Given the description of an element on the screen output the (x, y) to click on. 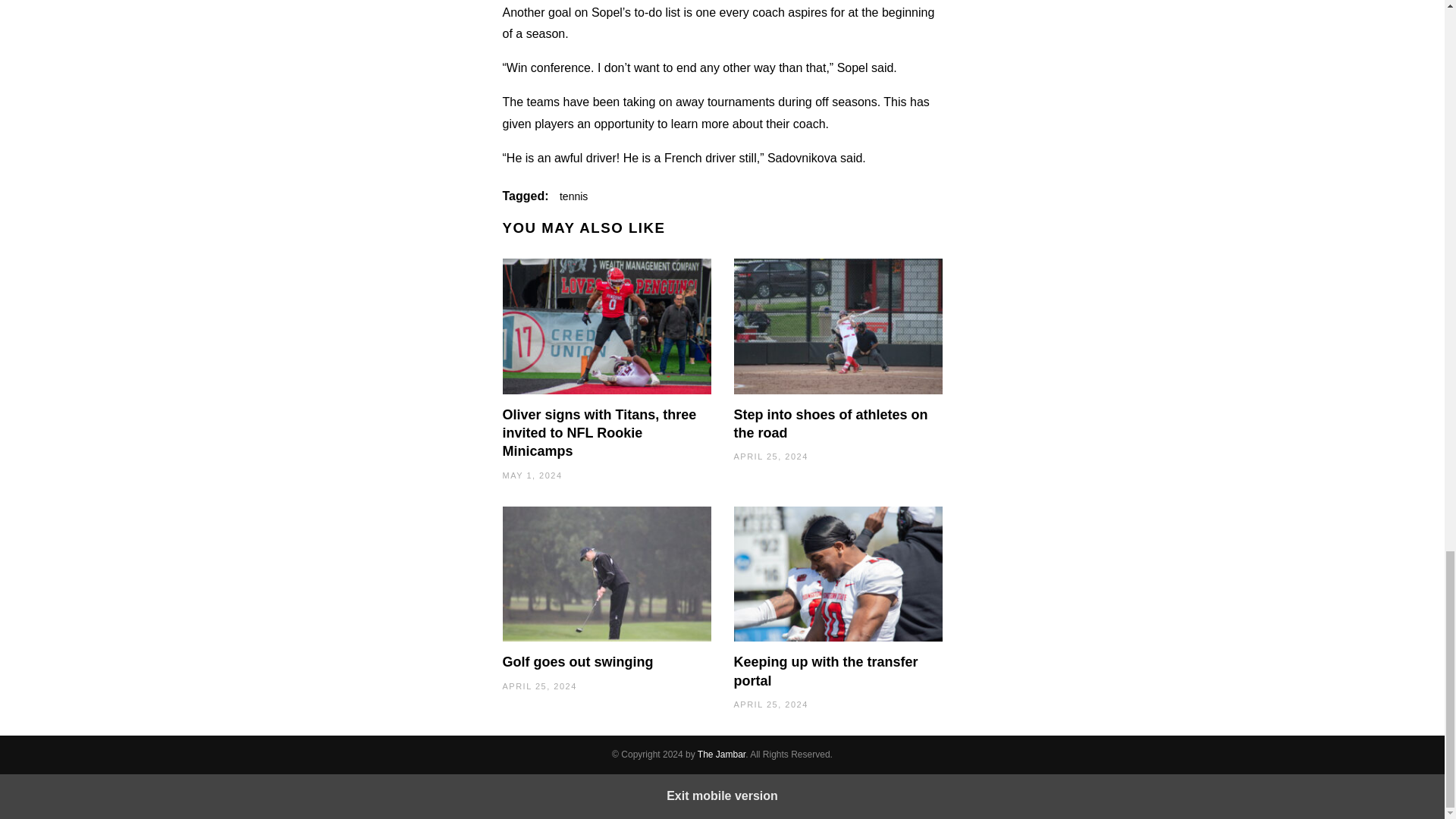
Step into shoes of athletes on the road (830, 423)
Keeping up with the transfer portal (825, 670)
The Jambar (721, 754)
Golf goes out swinging (577, 661)
tennis (573, 196)
